Given the description of an element on the screen output the (x, y) to click on. 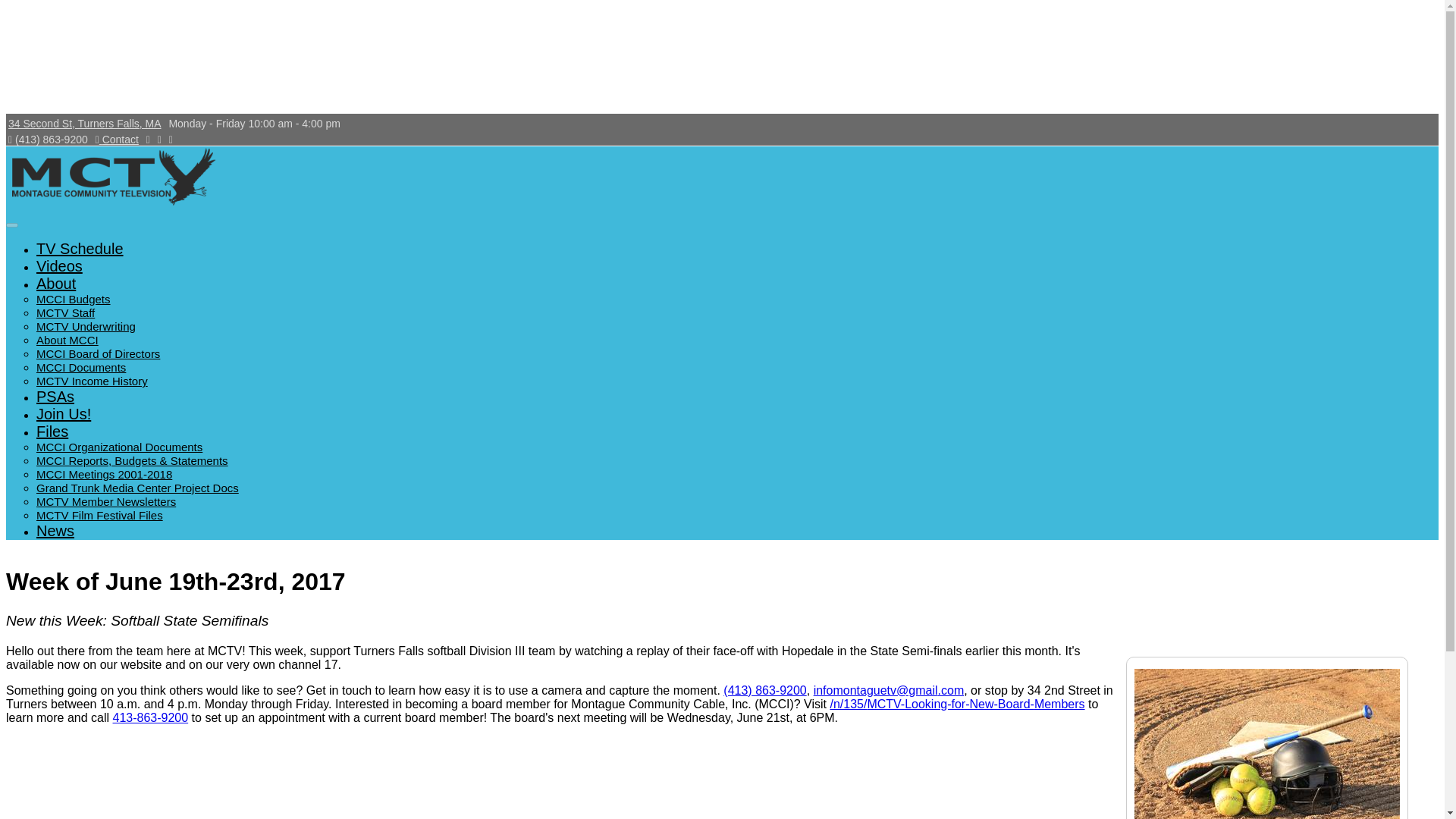
Join Us! (63, 413)
413-863-9200 (151, 717)
MCTV Member Newsletters (106, 501)
MCTV Staff (65, 312)
Contact (117, 139)
News (55, 530)
MCCI Documents (80, 367)
About (55, 283)
MCCI Organizational Documents (119, 446)
Files (52, 431)
MCCI Board of Directors (98, 353)
MCTV Income History (92, 380)
34 Second St, Turners Falls, MA (84, 123)
MCTV Underwriting (85, 326)
About MCCI (67, 339)
